Given the description of an element on the screen output the (x, y) to click on. 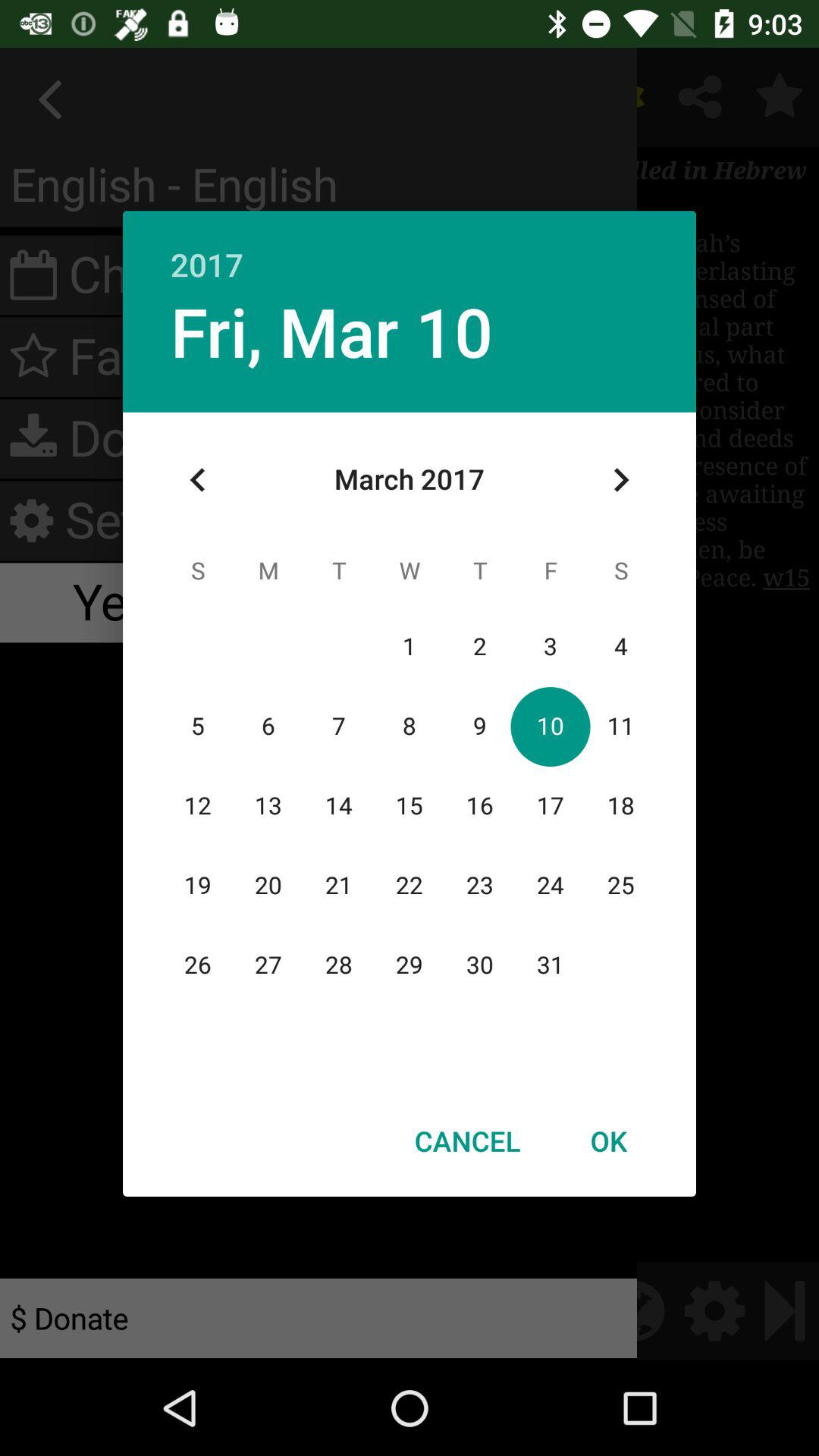
jump until fri, mar 10 (331, 331)
